Given the description of an element on the screen output the (x, y) to click on. 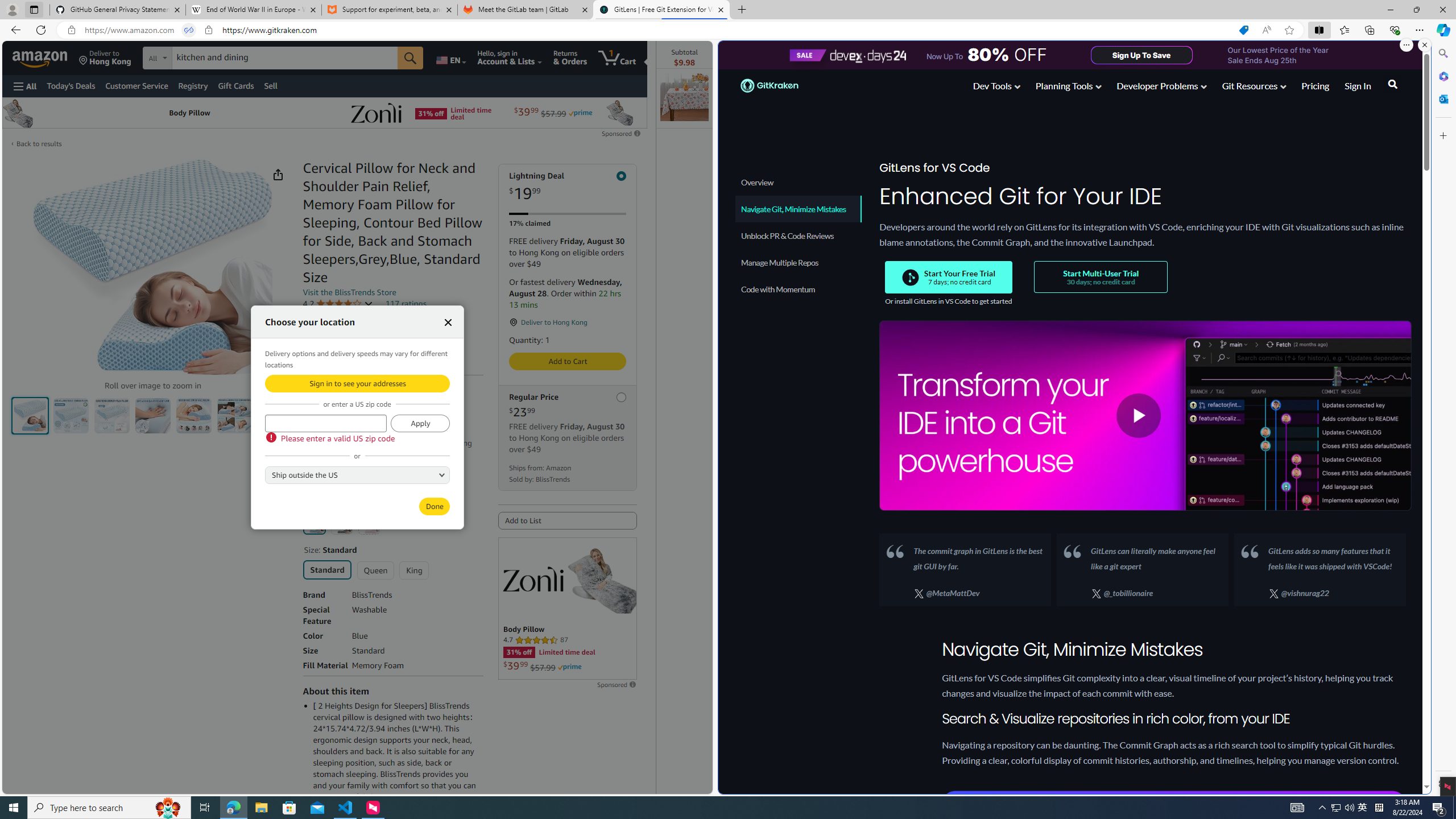
Meet the GitLab team | GitLab (525, 9)
Returns & Orders (570, 57)
Code with Momentum (798, 289)
Overview (798, 181)
Learn more about Amazon pricing and savings (360, 427)
Back to results (39, 143)
Pricing (1315, 87)
Skip to main content (48, 56)
Visit the BlissTrends Store (349, 292)
